Given the description of an element on the screen output the (x, y) to click on. 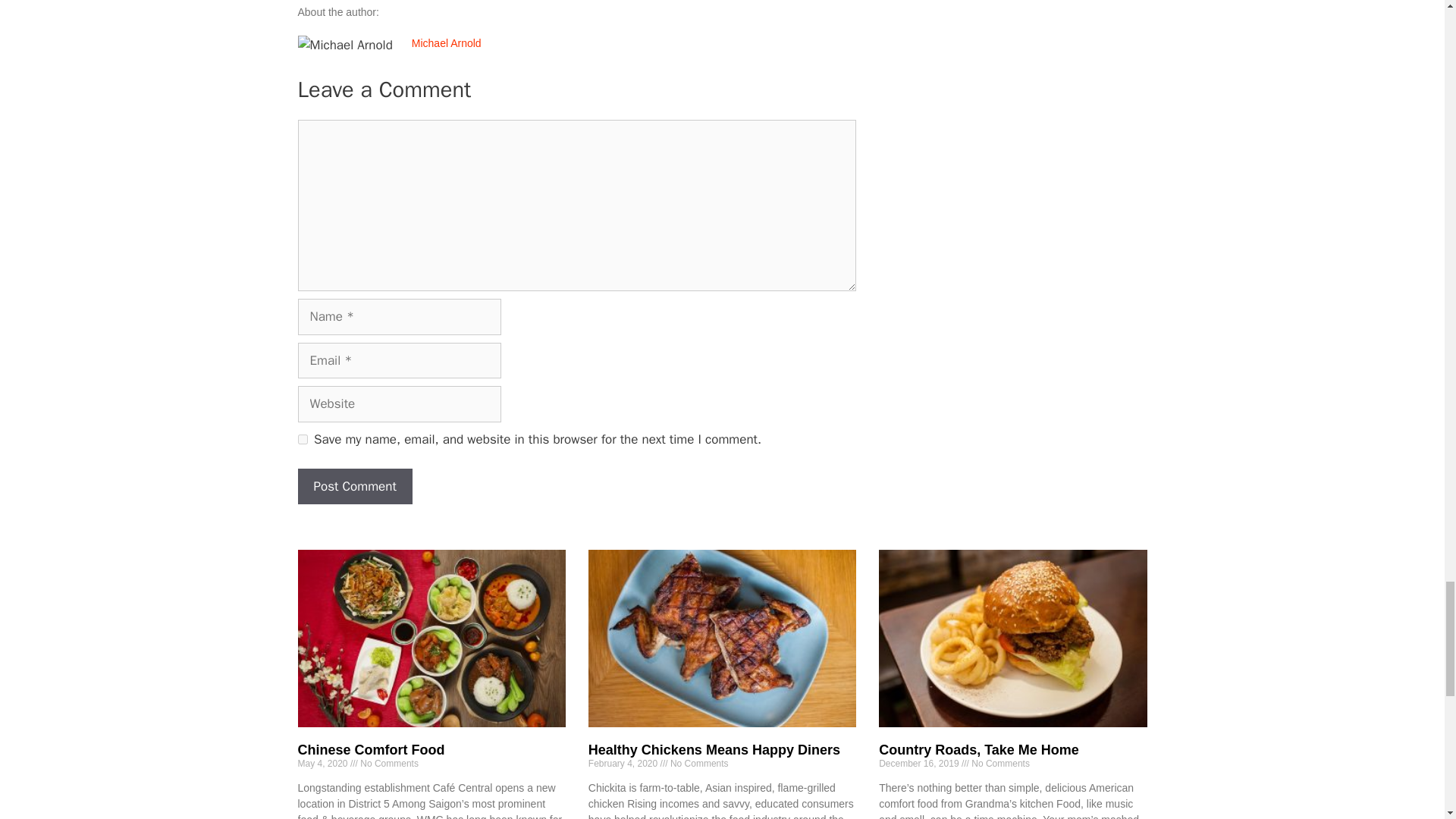
yes (302, 439)
Post Comment (354, 486)
